Given the description of an element on the screen output the (x, y) to click on. 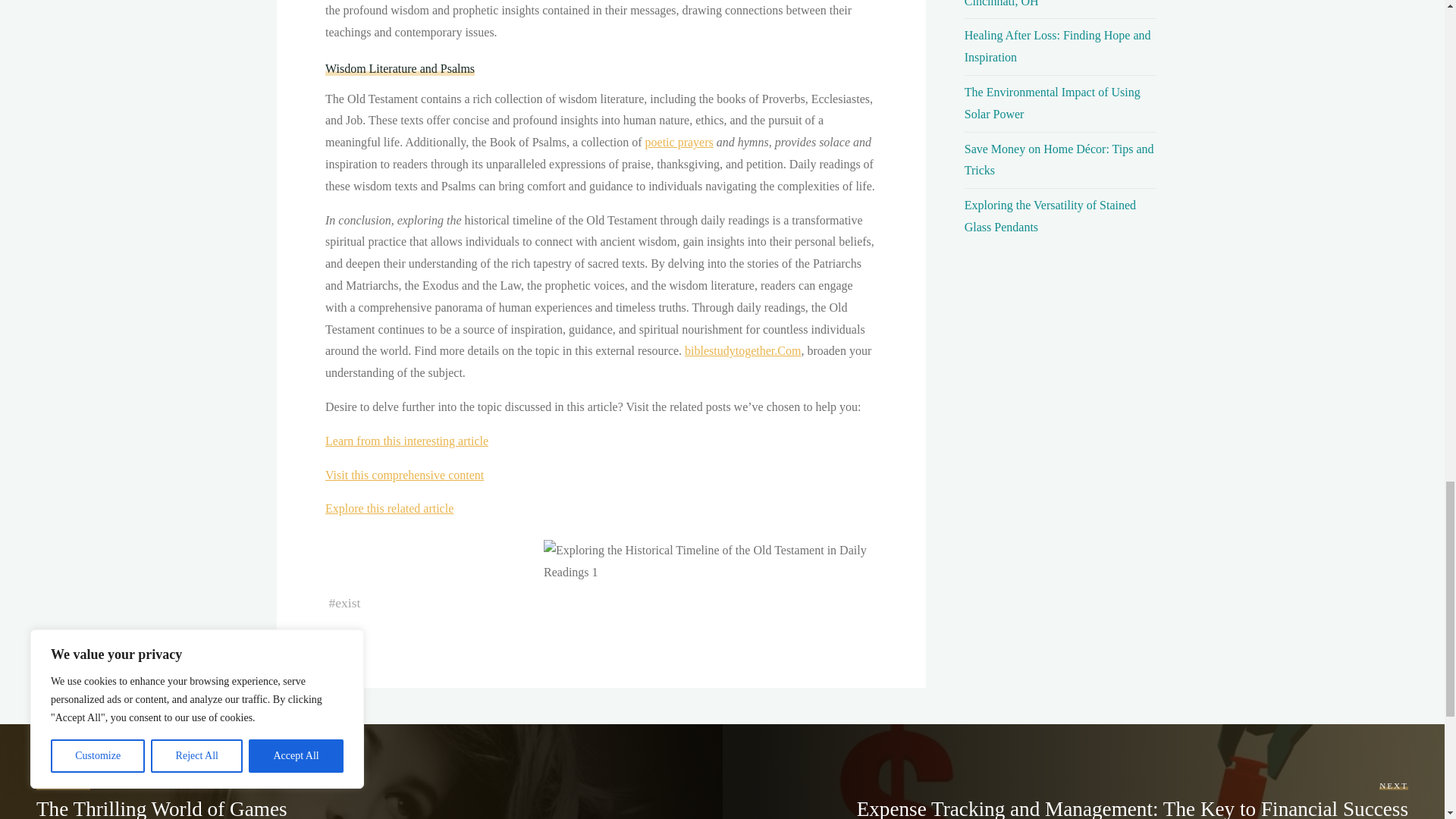
exist (346, 602)
Learn from this interesting article (405, 440)
biblestudytogether.Com (742, 350)
Explore this related article (388, 508)
Visit this comprehensive content (403, 474)
poetic prayers (679, 141)
